Given the description of an element on the screen output the (x, y) to click on. 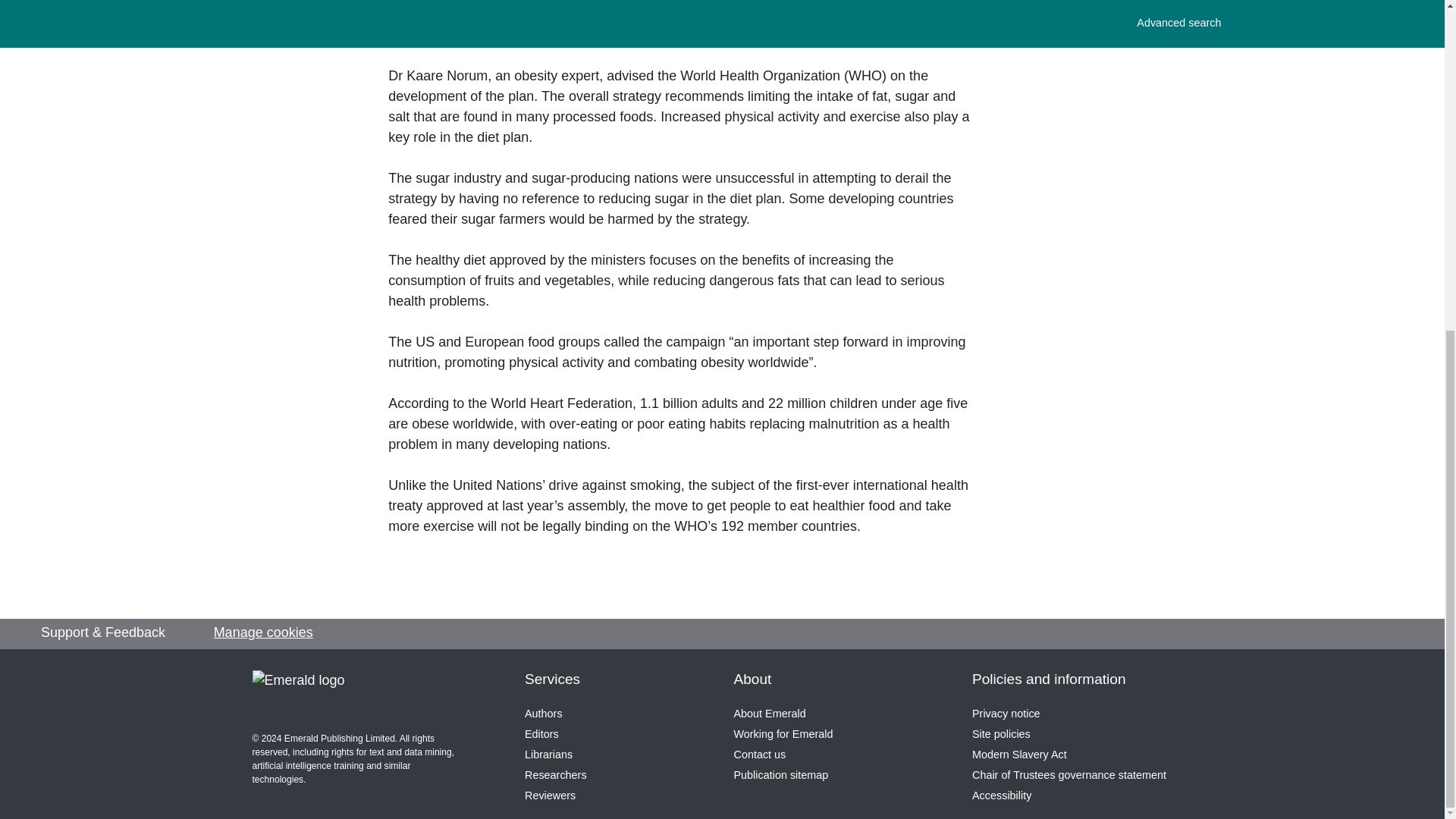
Researchers (555, 775)
Authors (543, 713)
Accessibility (1001, 795)
Manage cookies (263, 632)
Site policies (1001, 734)
Modern Slavery Act (1019, 754)
Publication sitemap (780, 775)
Chair of Trustees governance statement (1069, 775)
Librarians (548, 754)
Reviewers (549, 795)
